Given the description of an element on the screen output the (x, y) to click on. 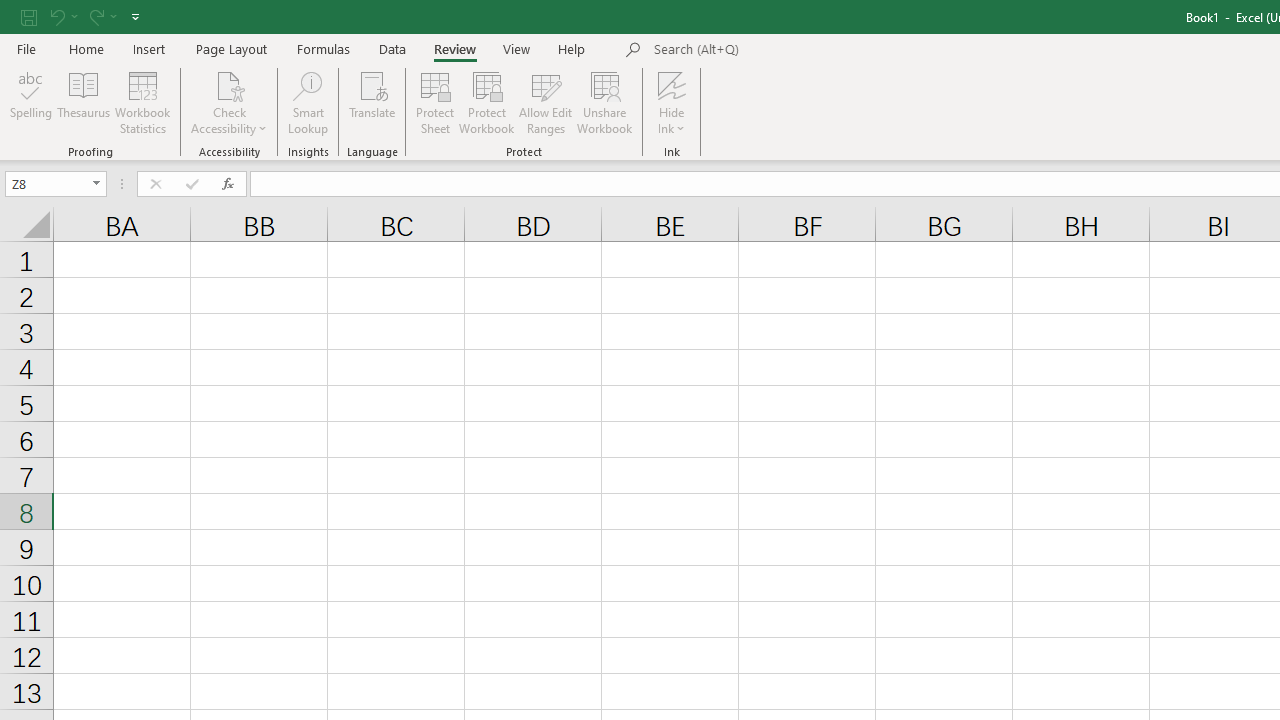
Protect Sheet... (434, 102)
Smart Lookup (308, 102)
Unshare Workbook (604, 102)
Spelling... (31, 102)
